Given the description of an element on the screen output the (x, y) to click on. 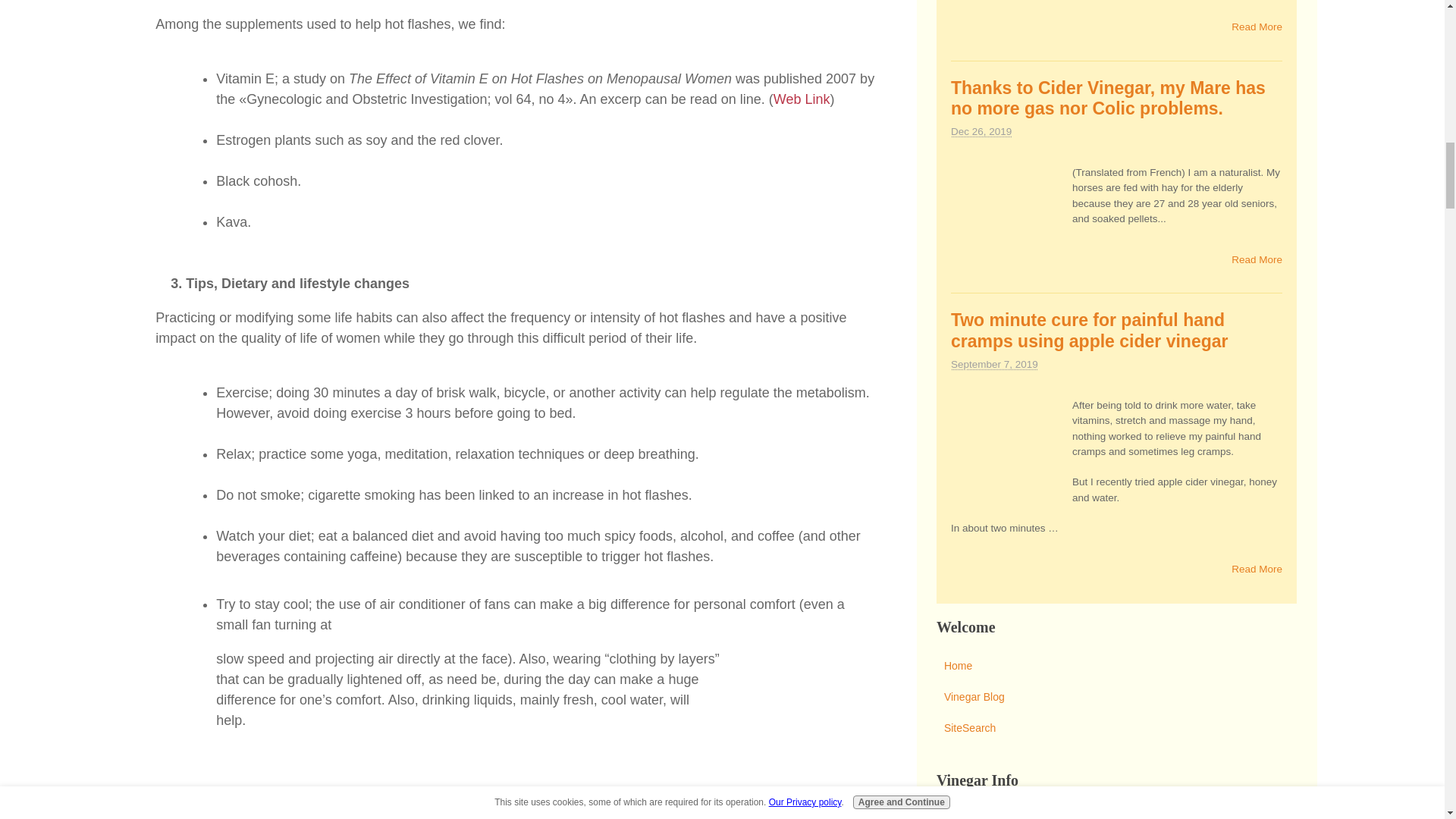
ACV and Horse colic (1007, 222)
2019-12-26 (980, 131)
2019-09-07 (994, 364)
Web Link (801, 99)
ACV and Hand Cramps (1007, 454)
